Given the description of an element on the screen output the (x, y) to click on. 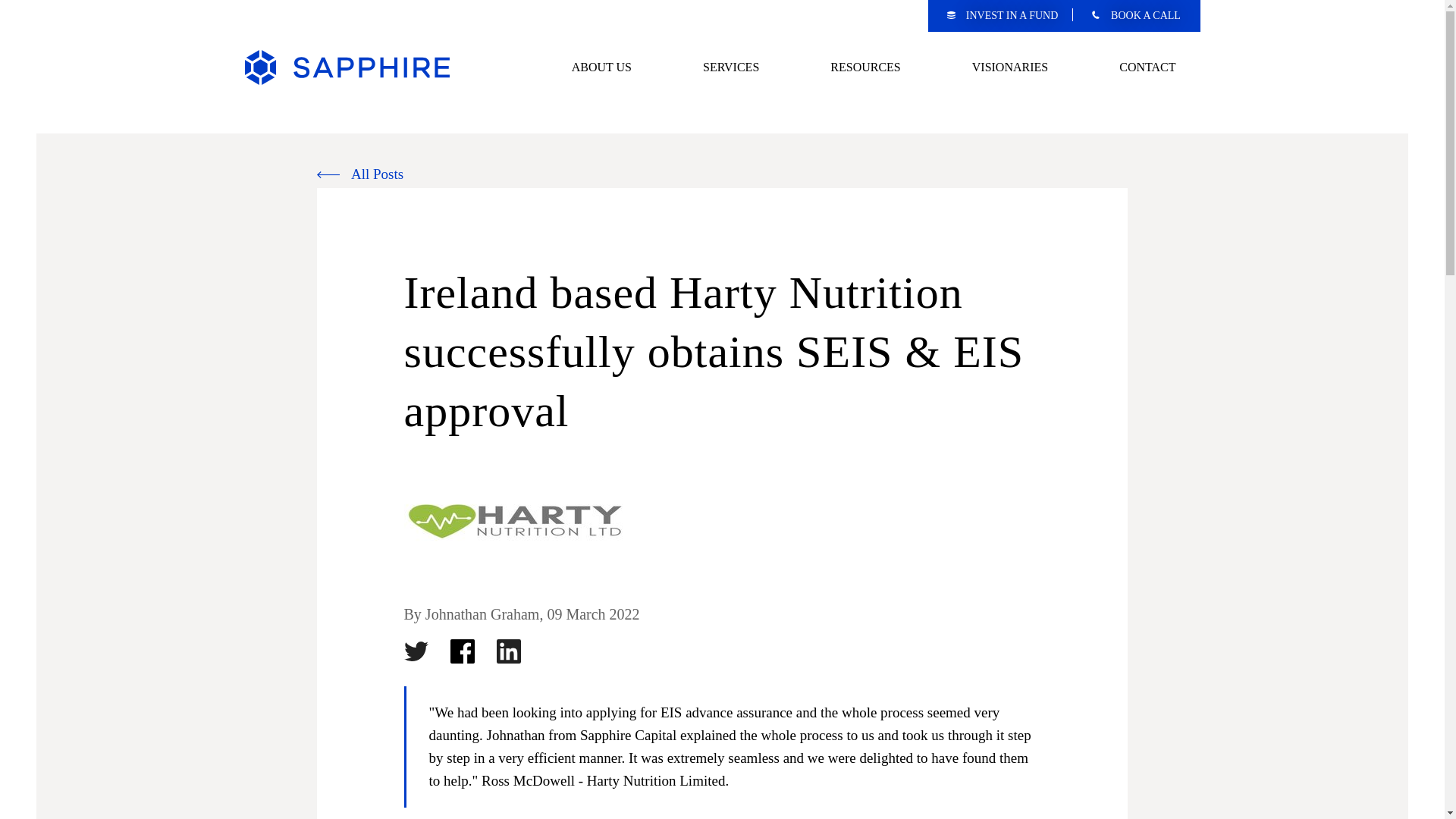
VISIONARIES (1009, 67)
ABOUT US (601, 67)
CONTACT (1147, 67)
BOOK A CALL (1135, 15)
RESOURCES (865, 67)
SERVICES (730, 67)
INVEST IN A FUND (1012, 15)
Sapphire Capital (346, 66)
